Given the description of an element on the screen output the (x, y) to click on. 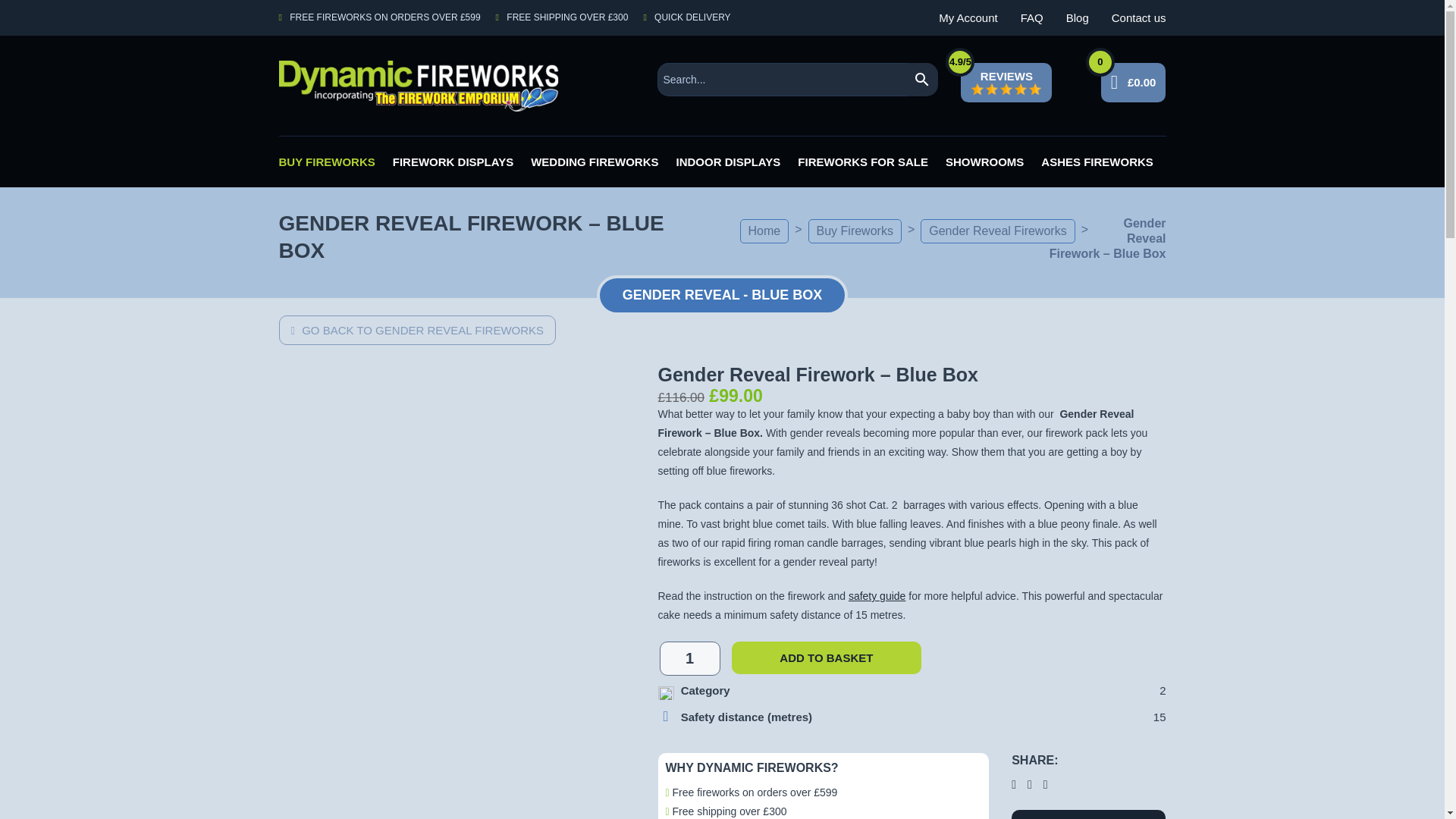
My Account (968, 17)
Contact us (1139, 17)
Qty (689, 658)
BUY FIREWORKS (327, 161)
ASHES FIREWORKS (1097, 161)
WEDDING FIREWORKS (594, 161)
FAQ (1031, 17)
FIREWORKS FOR SALE (862, 161)
SHOWROOMS (983, 161)
Blog (1077, 17)
